Given the description of an element on the screen output the (x, y) to click on. 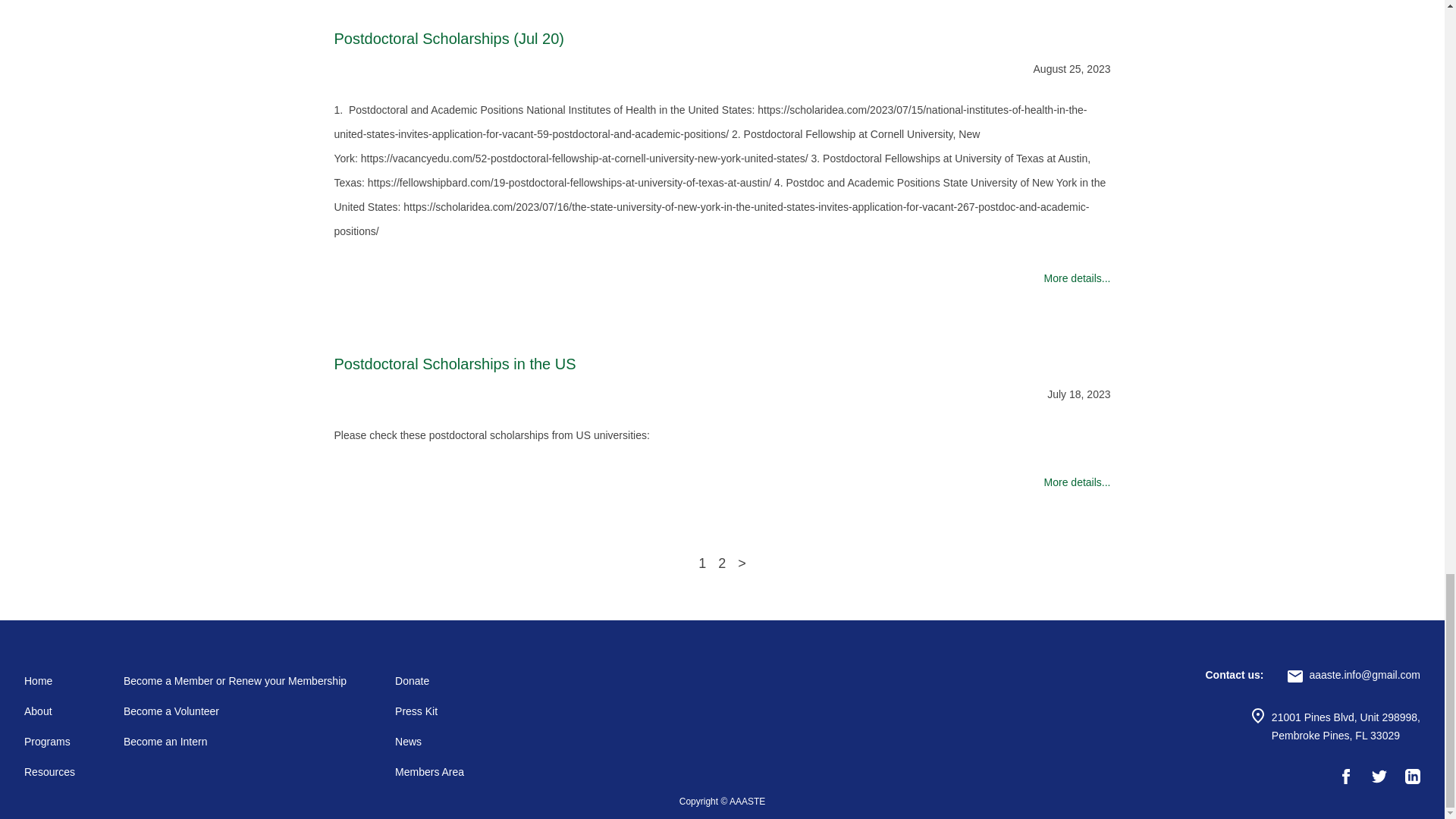
Twitter (1379, 776)
More details... (721, 482)
Programs (46, 741)
Facebook (1346, 776)
About (38, 711)
LinkedIn (1413, 776)
Become a Member or Renew your Membership (234, 680)
Resources (49, 771)
Postdoctoral Scholarships in the US (721, 363)
More details... (721, 278)
